Given the description of an element on the screen output the (x, y) to click on. 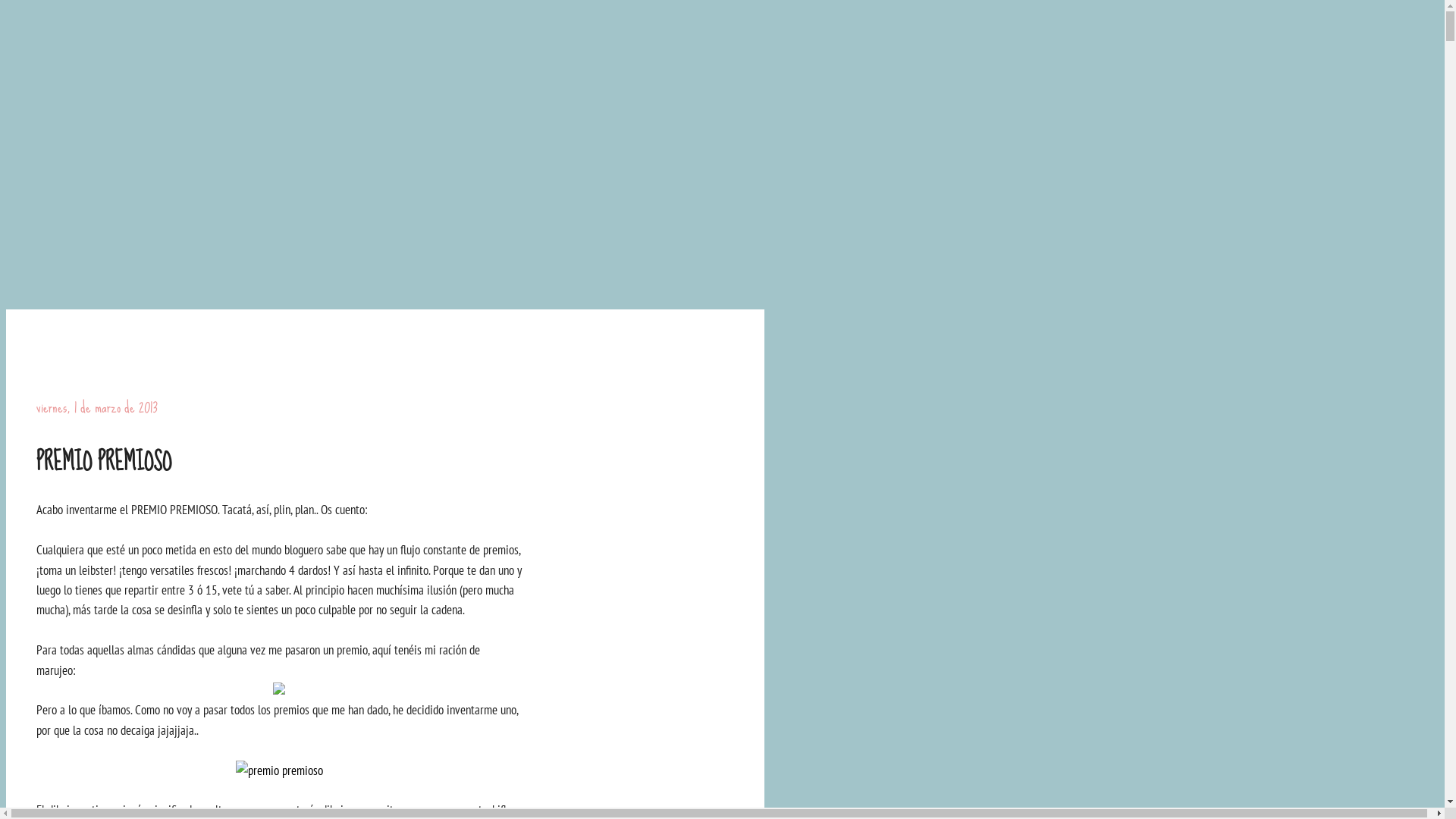
premio premioso Element type: hover (278, 769)
